Given the description of an element on the screen output the (x, y) to click on. 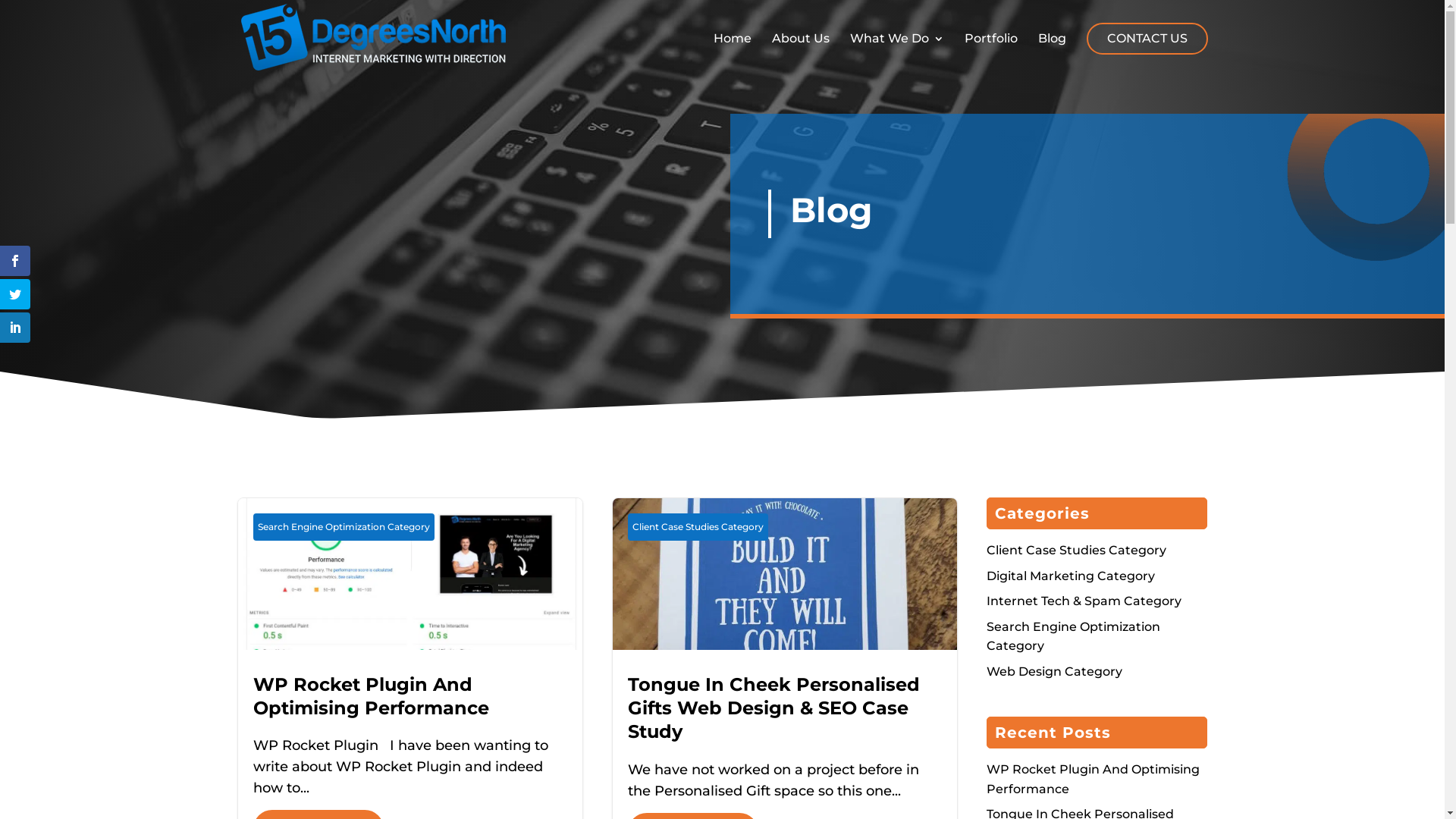
Home Element type: text (731, 53)
Client Case Studies Category Element type: text (697, 526)
WP Rocket Plugin And Optimising Performance Element type: text (1092, 779)
What We Do Element type: text (896, 53)
Web Design Category Element type: text (1054, 671)
WP Rocket Plugin And Optimising Performance Element type: text (371, 695)
Client Case Studies Category Element type: text (1076, 549)
Internet Tech & Spam Category Element type: text (1083, 600)
Search Engine Optimization Category Element type: text (1073, 636)
About Us Element type: text (800, 53)
CONTACT US Element type: text (1146, 38)
Portfolio Element type: text (990, 53)
Search Engine Optimization Category Element type: text (343, 526)
Blog Element type: text (1051, 53)
Digital Marketing Category Element type: text (1070, 575)
